Given the description of an element on the screen output the (x, y) to click on. 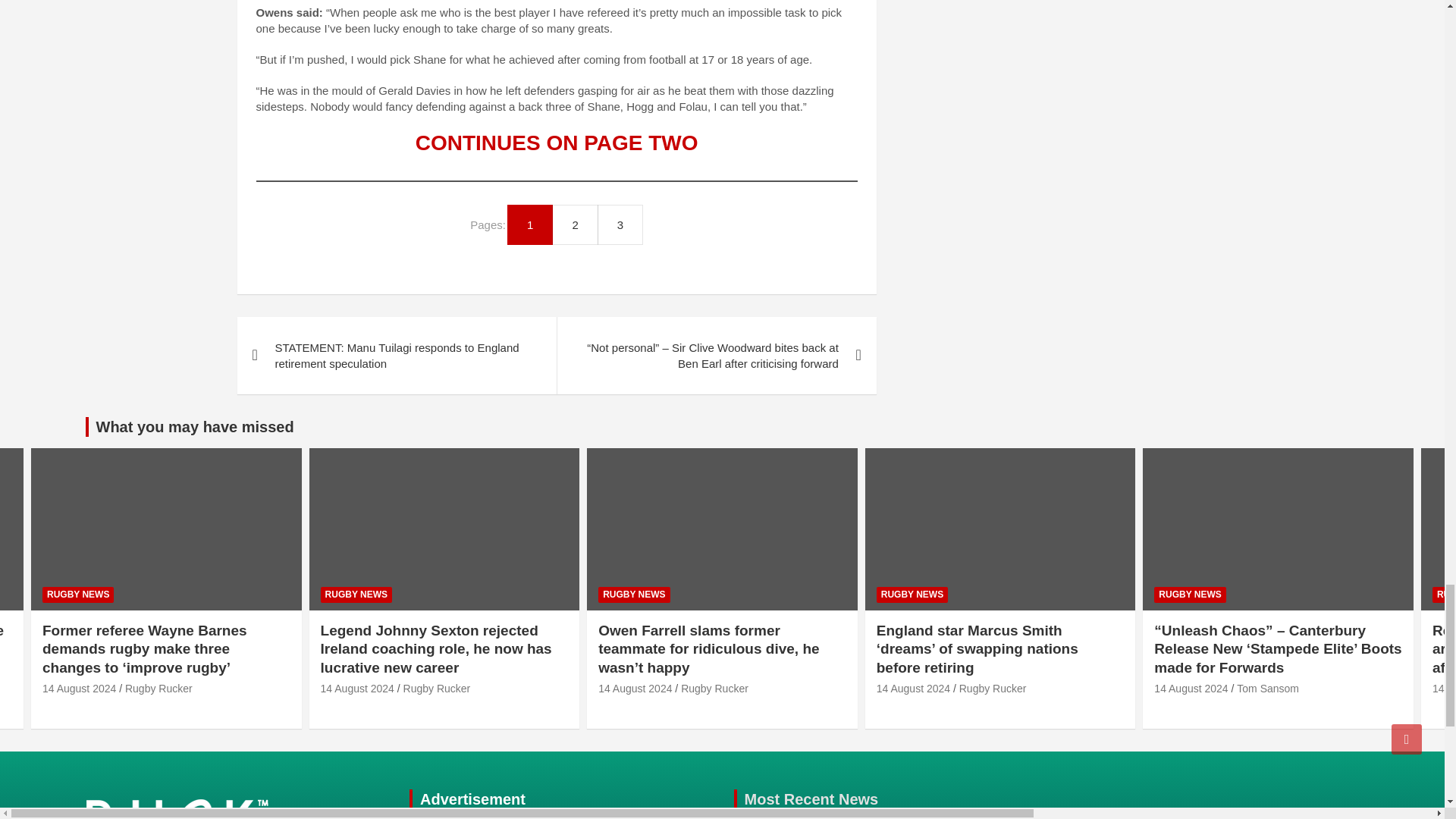
CONTINUES ON PAGE TWO (556, 142)
